Given the description of an element on the screen output the (x, y) to click on. 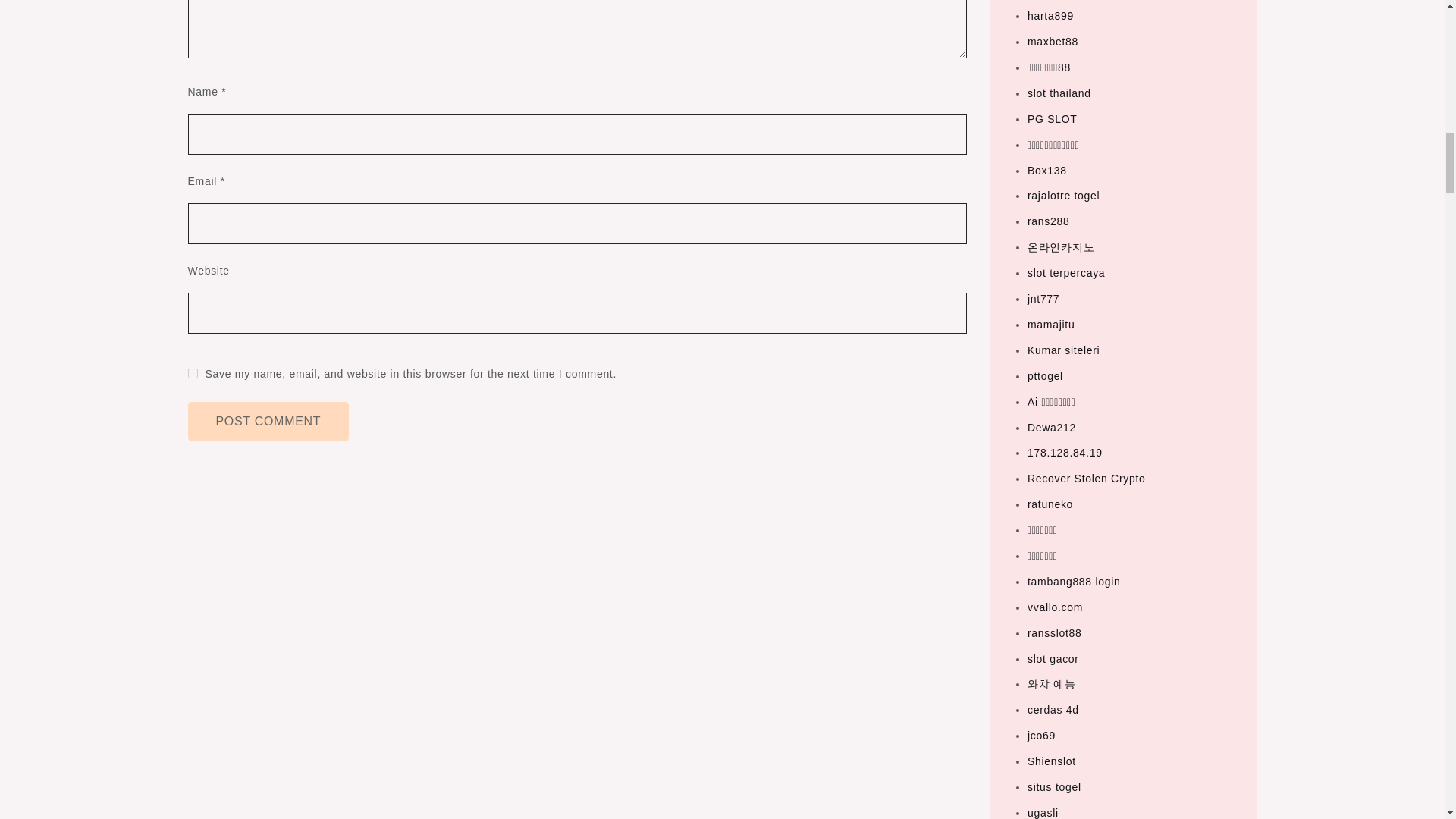
Post Comment (268, 421)
Post Comment (268, 421)
yes (192, 373)
